Given the description of an element on the screen output the (x, y) to click on. 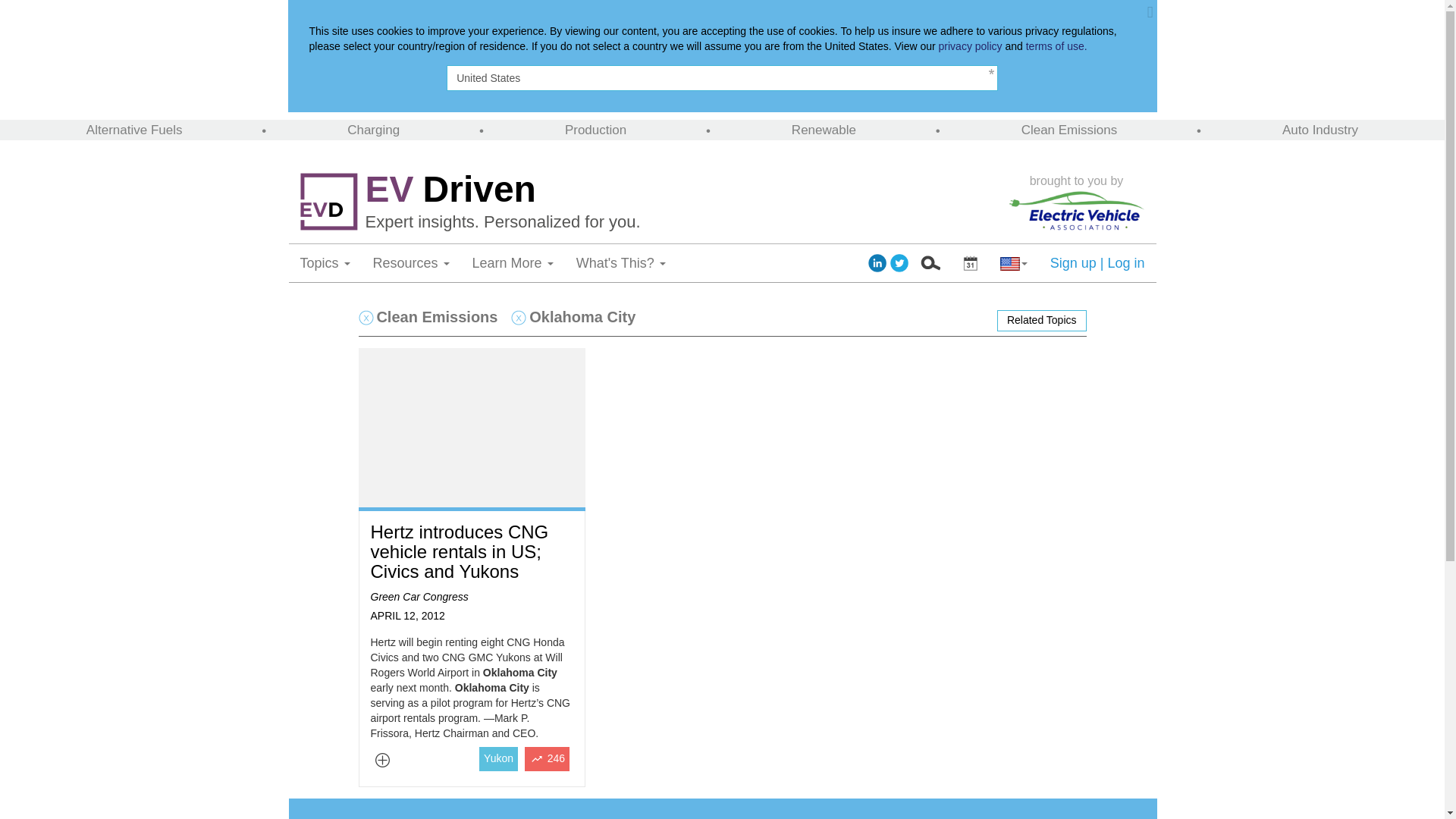
EV Driven (683, 189)
Charging (372, 129)
Charging (372, 129)
Alternative Fuels (134, 129)
Clean Emissions (1070, 129)
Search (930, 262)
Select edition (970, 262)
Clean Emissions (1070, 129)
Electric Auto Association (1076, 210)
terms of use. (1056, 46)
